Given the description of an element on the screen output the (x, y) to click on. 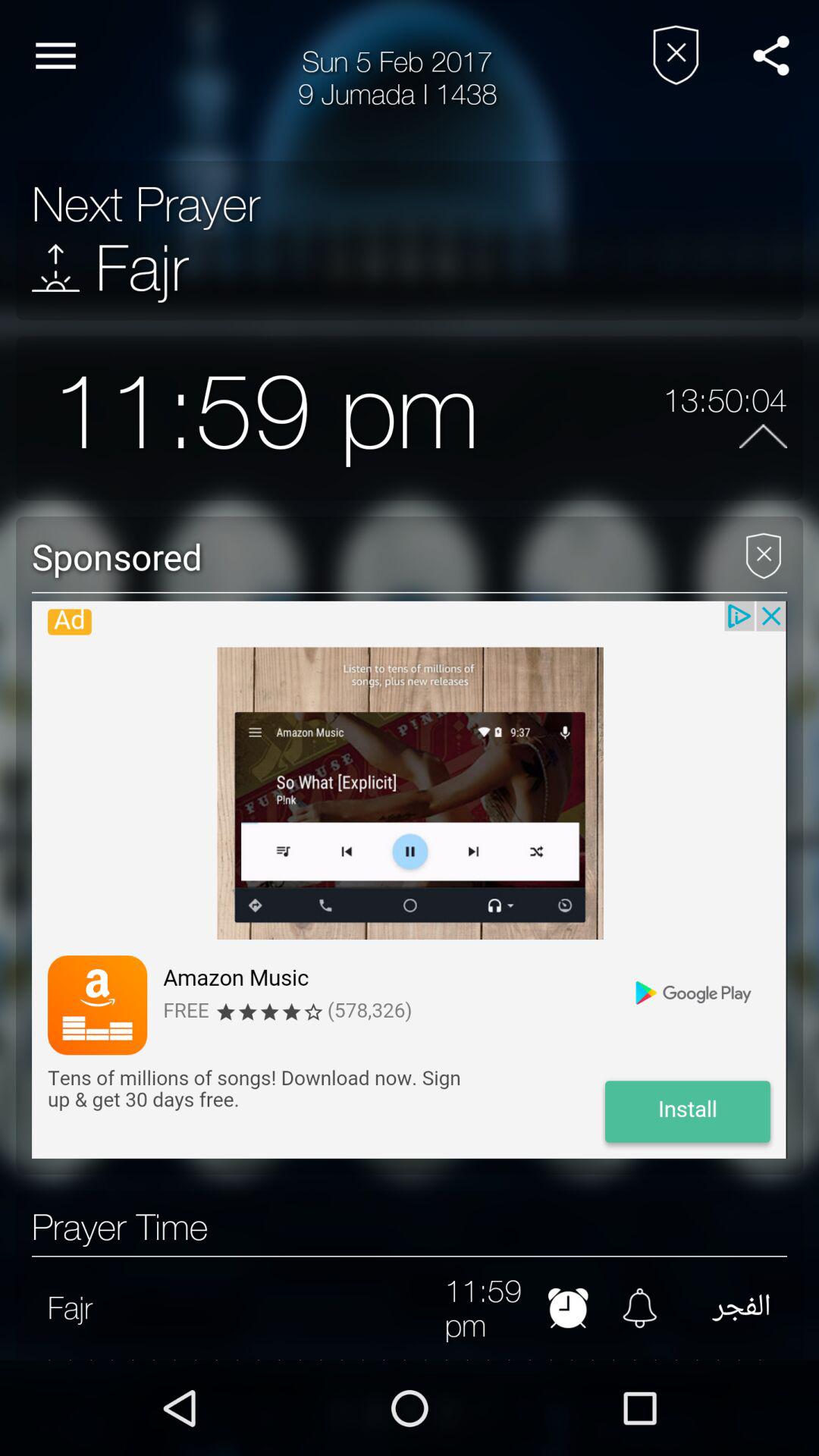
press the icon below 11:59 pm item (369, 556)
